Given the description of an element on the screen output the (x, y) to click on. 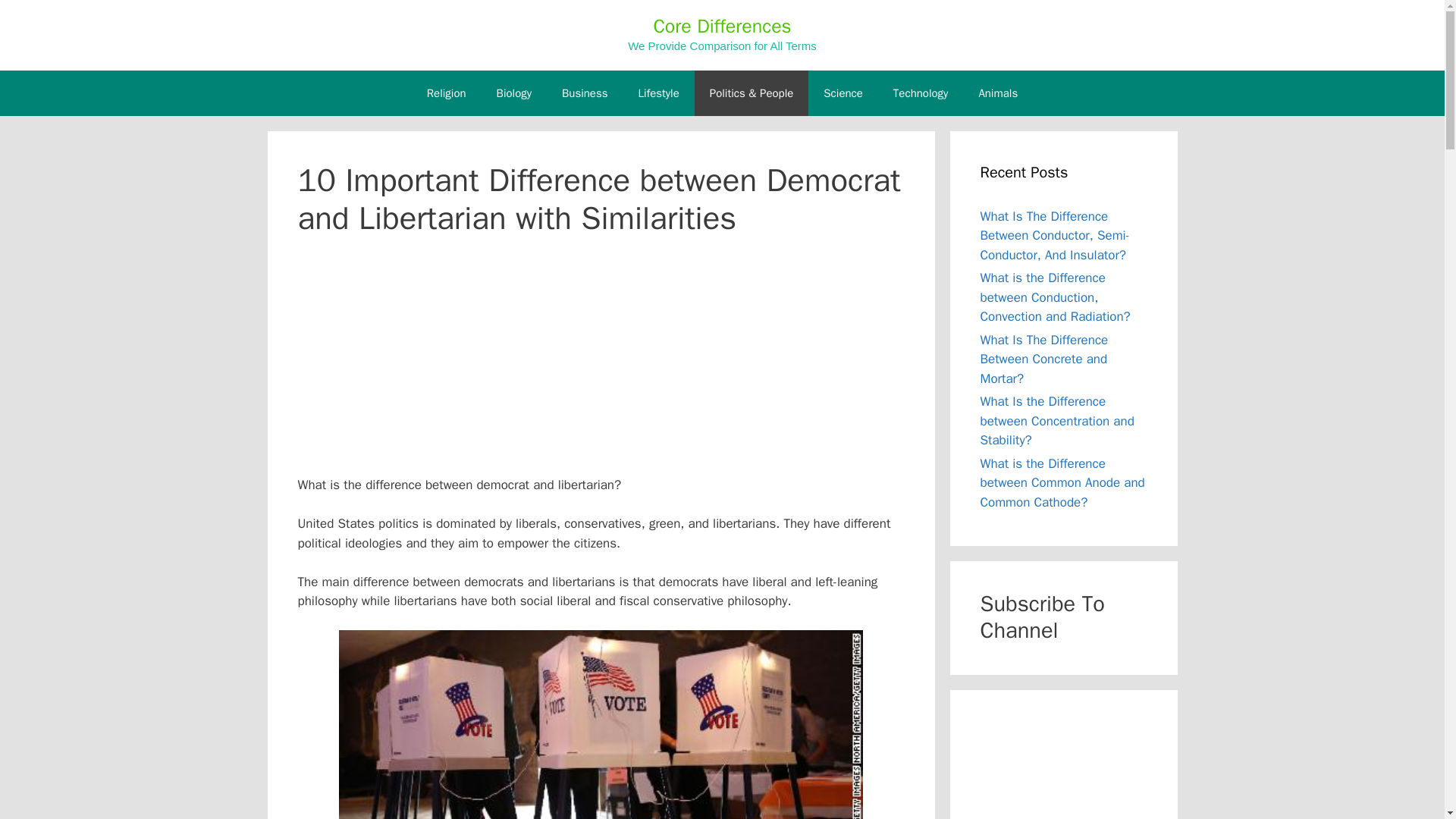
Core Differences (721, 25)
Business (585, 92)
What Is The Difference Between Concrete and Mortar? (1043, 359)
Biology (514, 92)
Difference Between Verbal and Non Verbal Communication (1063, 767)
Religion (446, 92)
Animals (997, 92)
Science (842, 92)
Lifestyle (658, 92)
What Is the Difference between Concentration and Stability? (1056, 420)
Technology (920, 92)
